Given the description of an element on the screen output the (x, y) to click on. 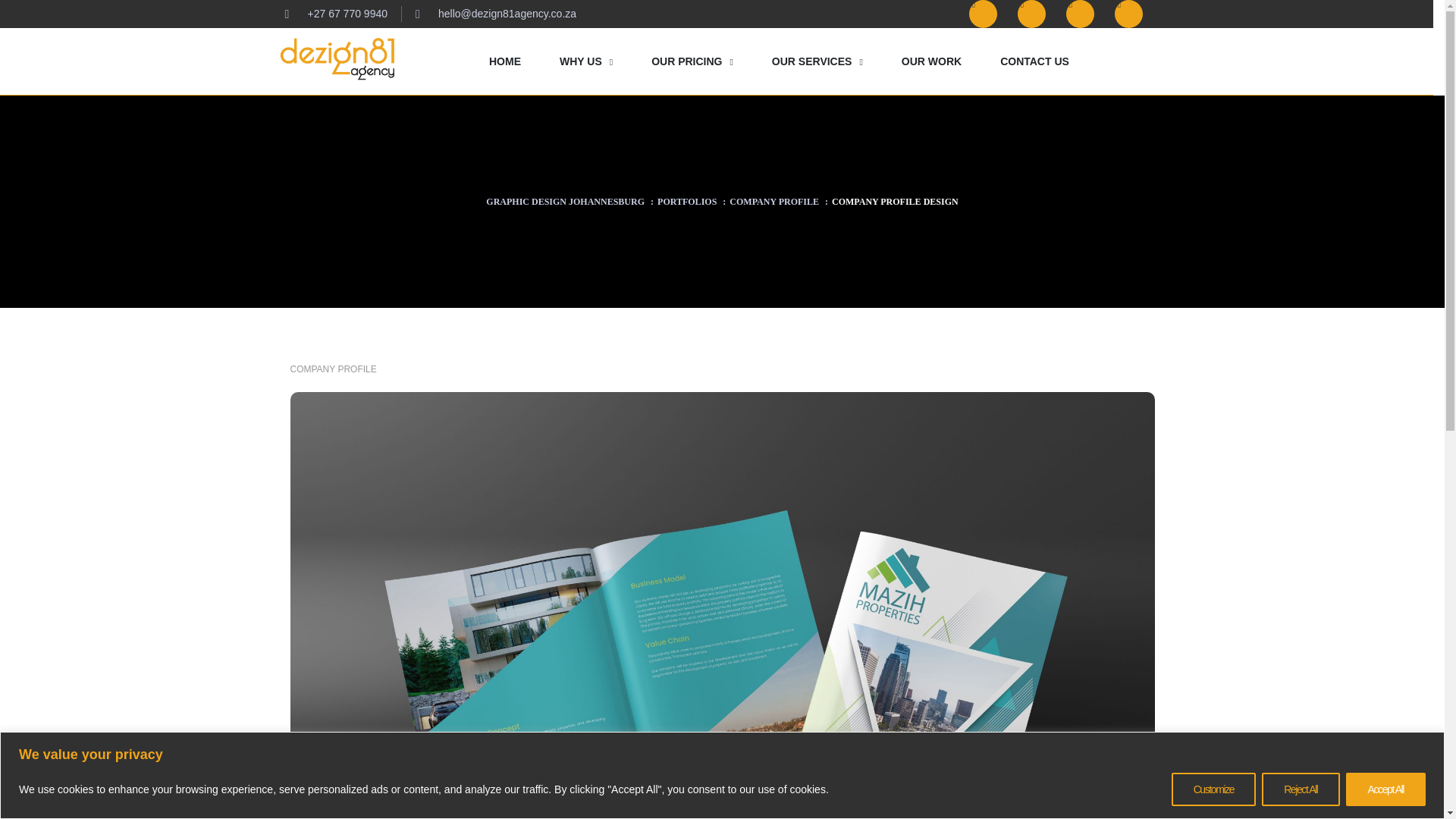
Go to Graphic Design Johannesburg. (565, 201)
Go to Portfolios. (687, 201)
Go to the Company Profile Category archives. (773, 201)
Accept All (1385, 788)
Customize (1214, 788)
Reject All (1300, 788)
